Given the description of an element on the screen output the (x, y) to click on. 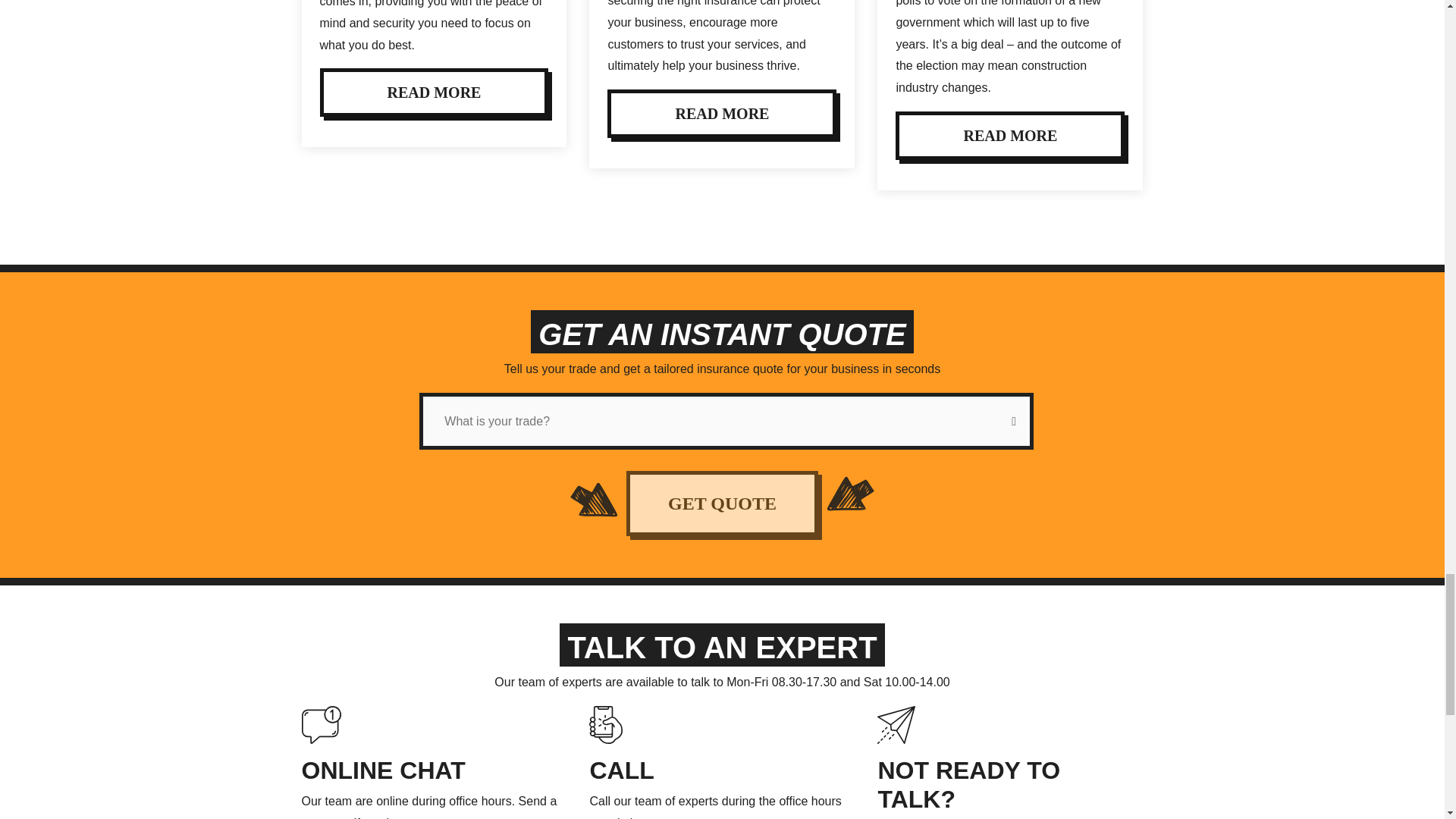
Not Ready To Buy (968, 784)
Online (383, 769)
Phone (621, 769)
Not Ready To Buy (896, 723)
